Given the description of an element on the screen output the (x, y) to click on. 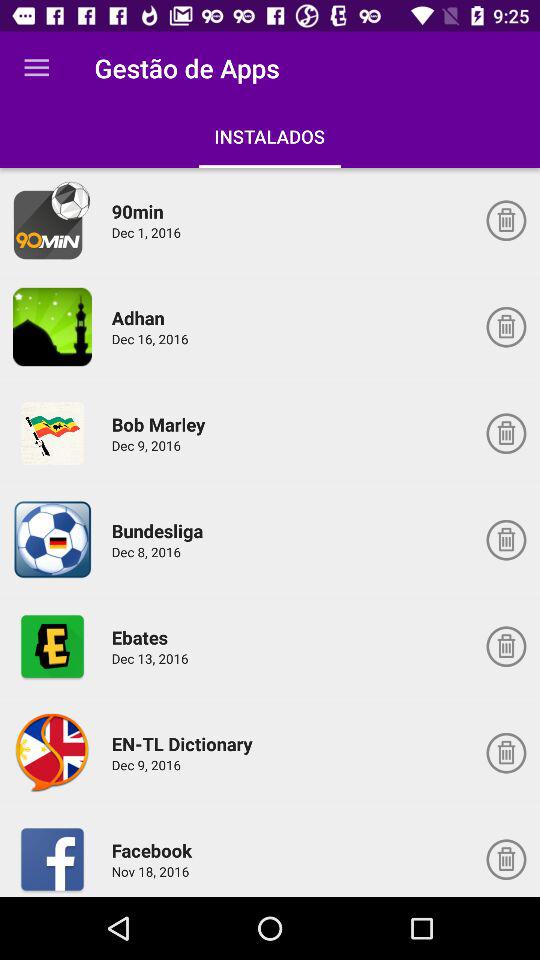
choose app (52, 220)
